Given the description of an element on the screen output the (x, y) to click on. 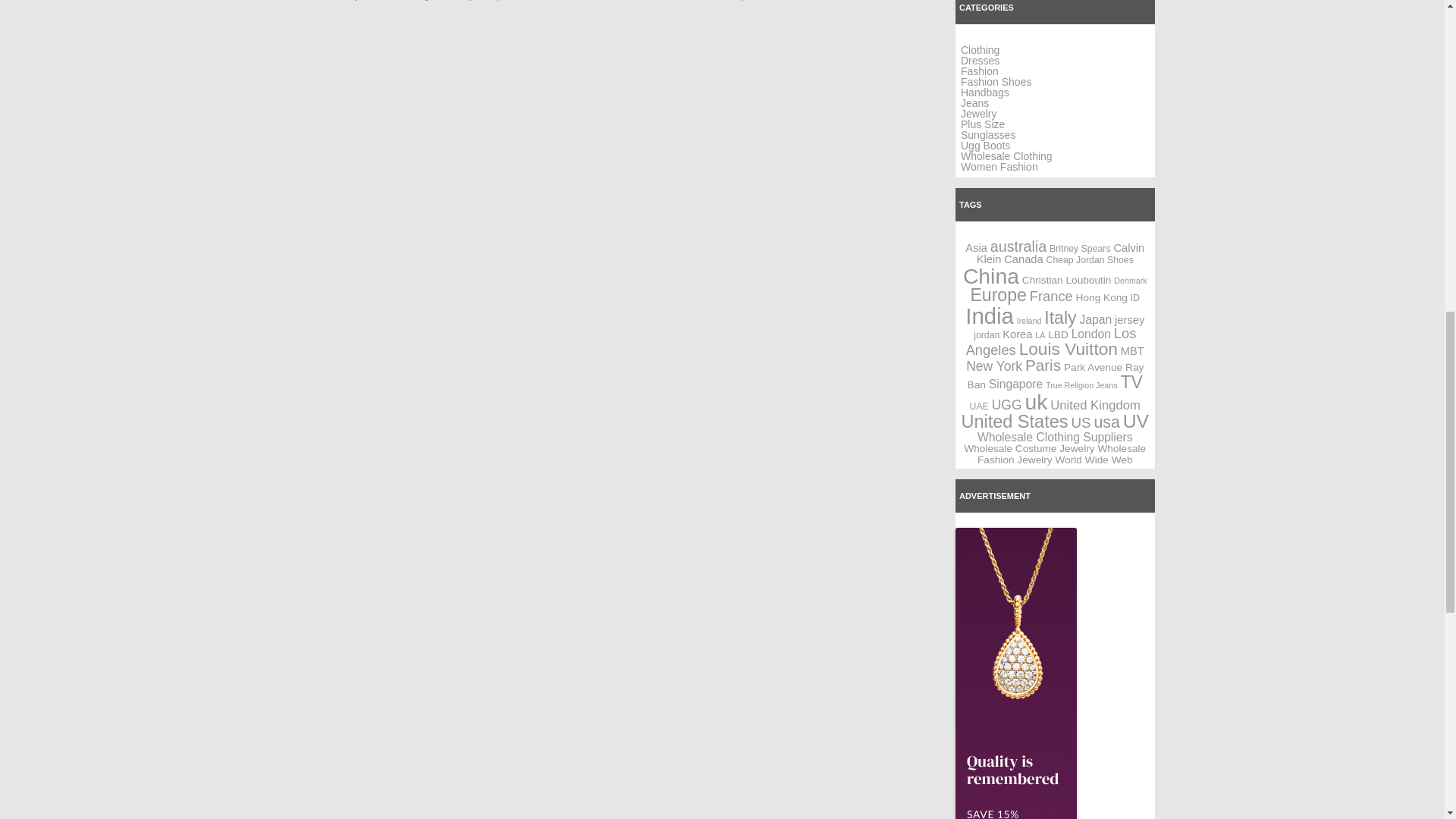
Wholesale Clothing (1006, 155)
Plus Size (982, 123)
Handbags (984, 92)
Sunglasses (987, 134)
Fashion (979, 70)
Jewelry (977, 113)
Jeans (974, 102)
Clothing (979, 50)
Fashion Shoes (995, 81)
Ugg Boots (985, 145)
